Given the description of an element on the screen output the (x, y) to click on. 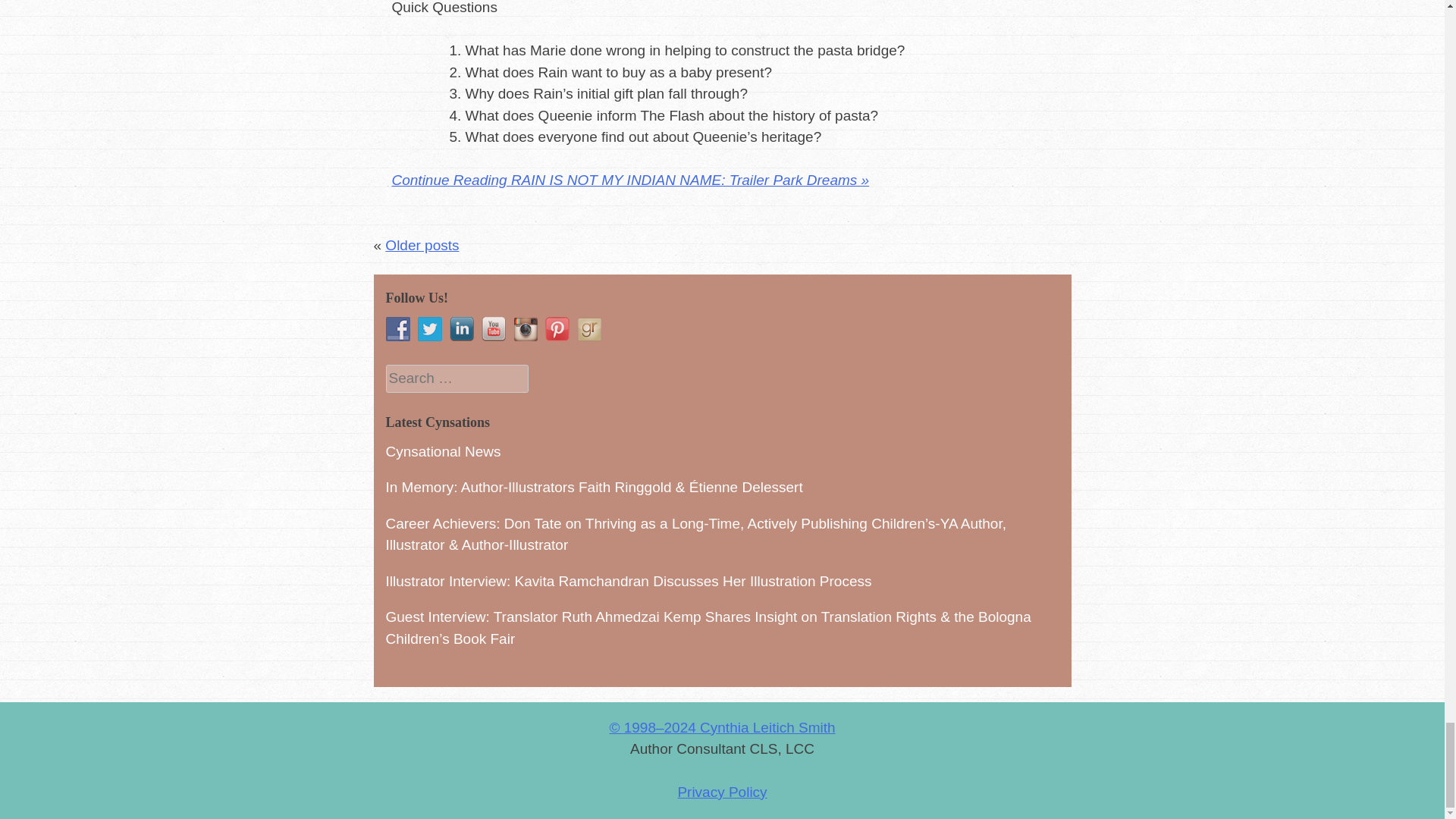
Follow Us on Goodreads (587, 328)
Older posts (421, 245)
Follow Us on YouTube (492, 328)
Follow Us on Facebook (397, 328)
Follow Us on LinkedIn (460, 328)
Follow Us on Pinterest (556, 328)
Follow Us on Instagram (524, 328)
Follow Us on Twitter (428, 328)
